Given the description of an element on the screen output the (x, y) to click on. 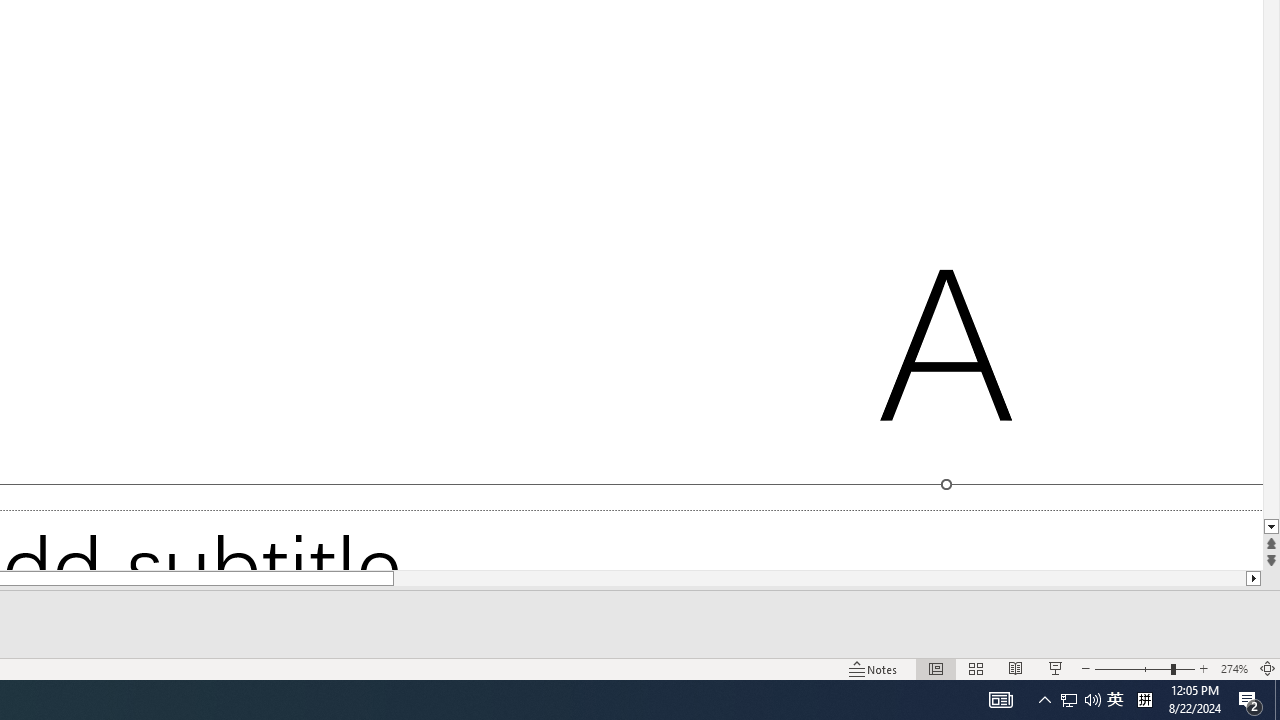
Zoom 274% (1234, 668)
